Given the description of an element on the screen output the (x, y) to click on. 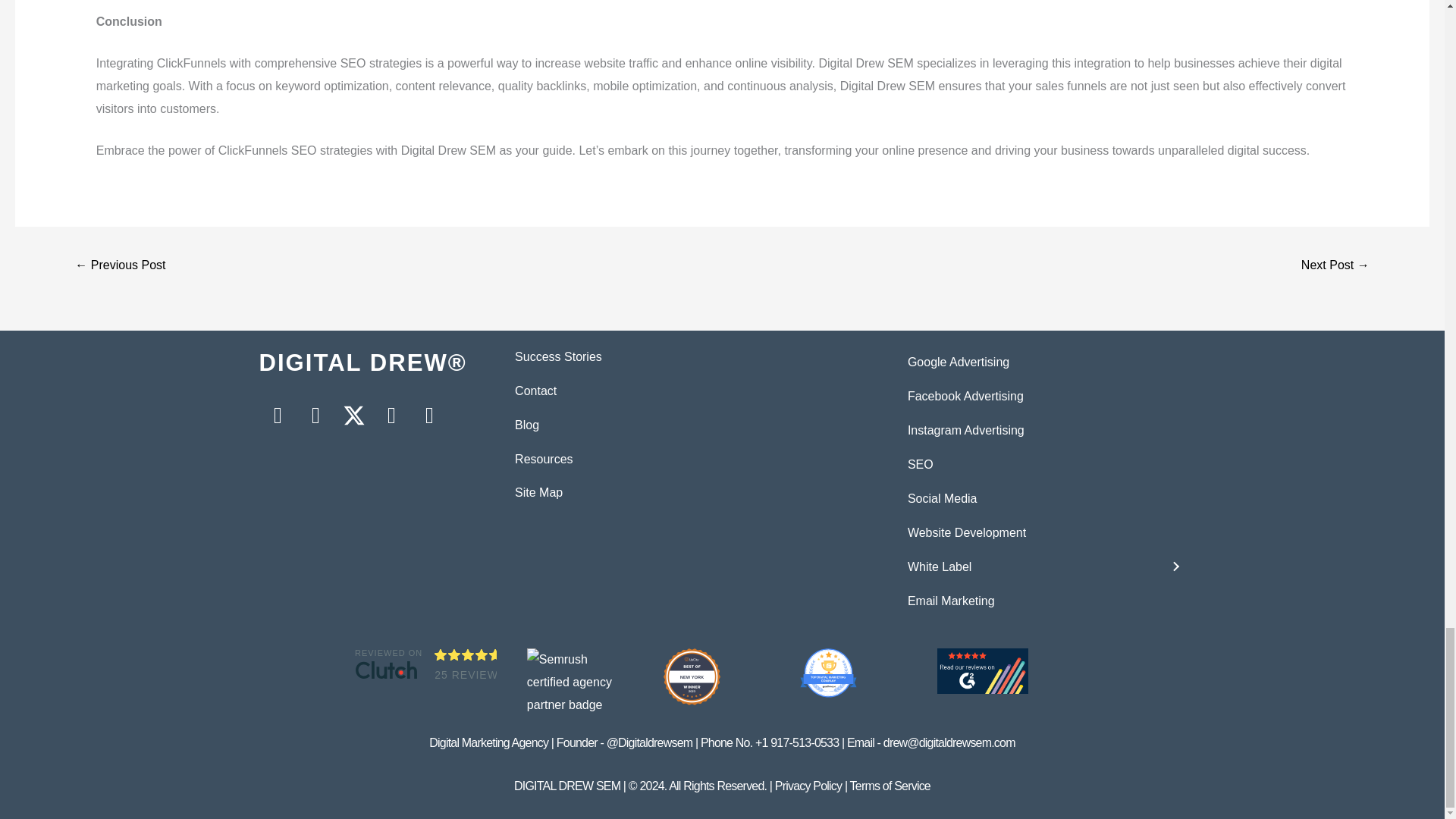
LinkedIn (391, 415)
Success Stories (558, 356)
Blog (526, 424)
Instagram (315, 415)
YouTube (429, 415)
Site Map (538, 492)
Facebook (278, 415)
Resources (543, 459)
Contact (535, 390)
 Company (828, 672)
Read reviews of Digital Drew on G2 (982, 670)
